Given the description of an element on the screen output the (x, y) to click on. 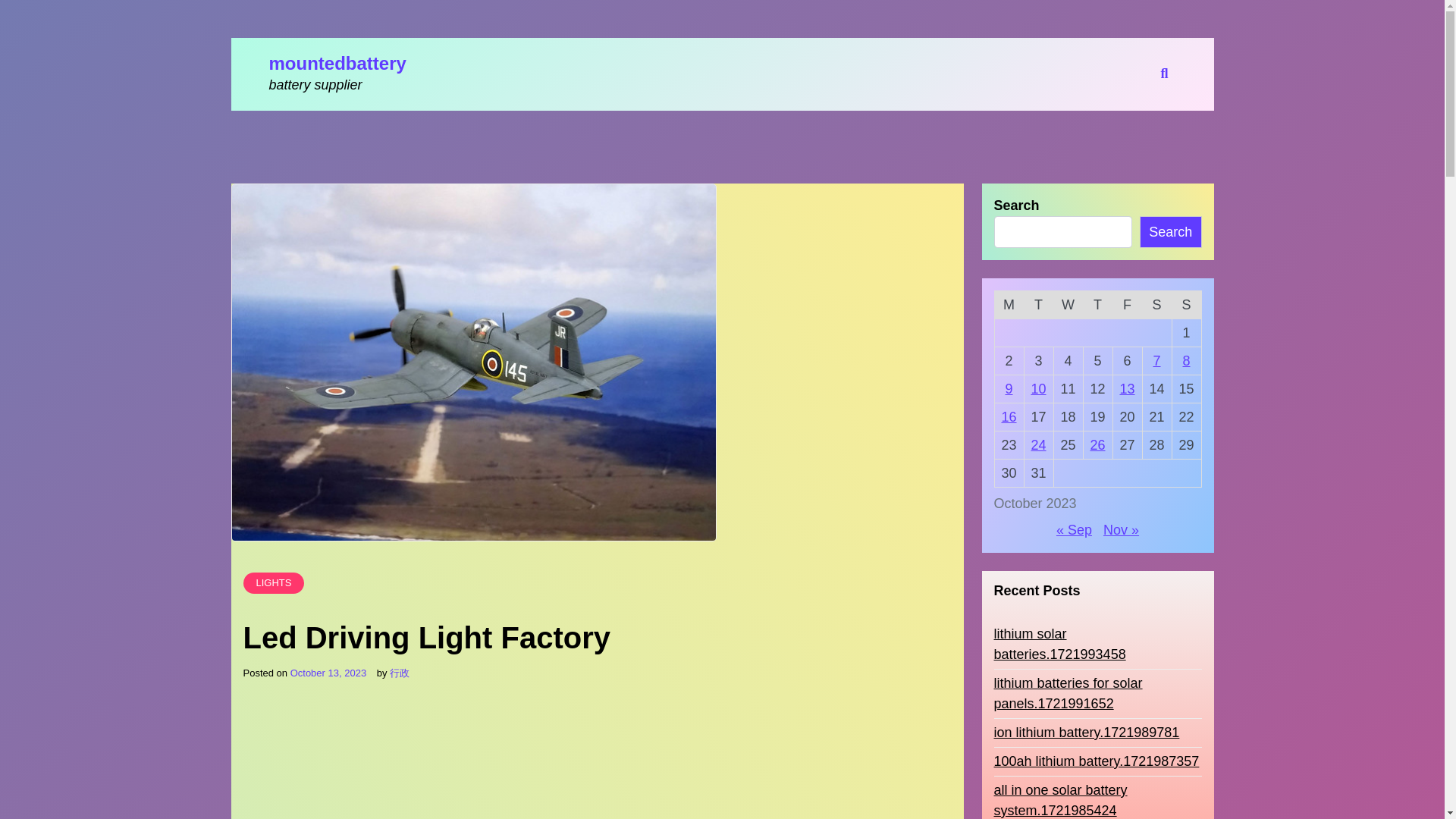
Tuesday (1037, 305)
mountedbattery (336, 64)
ion lithium battery.1721989781 (1085, 732)
Thursday (1097, 305)
Wednesday (1067, 305)
lithium batteries for solar panels.1721991652 (1096, 693)
Search (1026, 409)
October 13, 2023 (327, 673)
LIGHTS (273, 582)
100ah lithium battery.1721987357 (1095, 761)
